Given the description of an element on the screen output the (x, y) to click on. 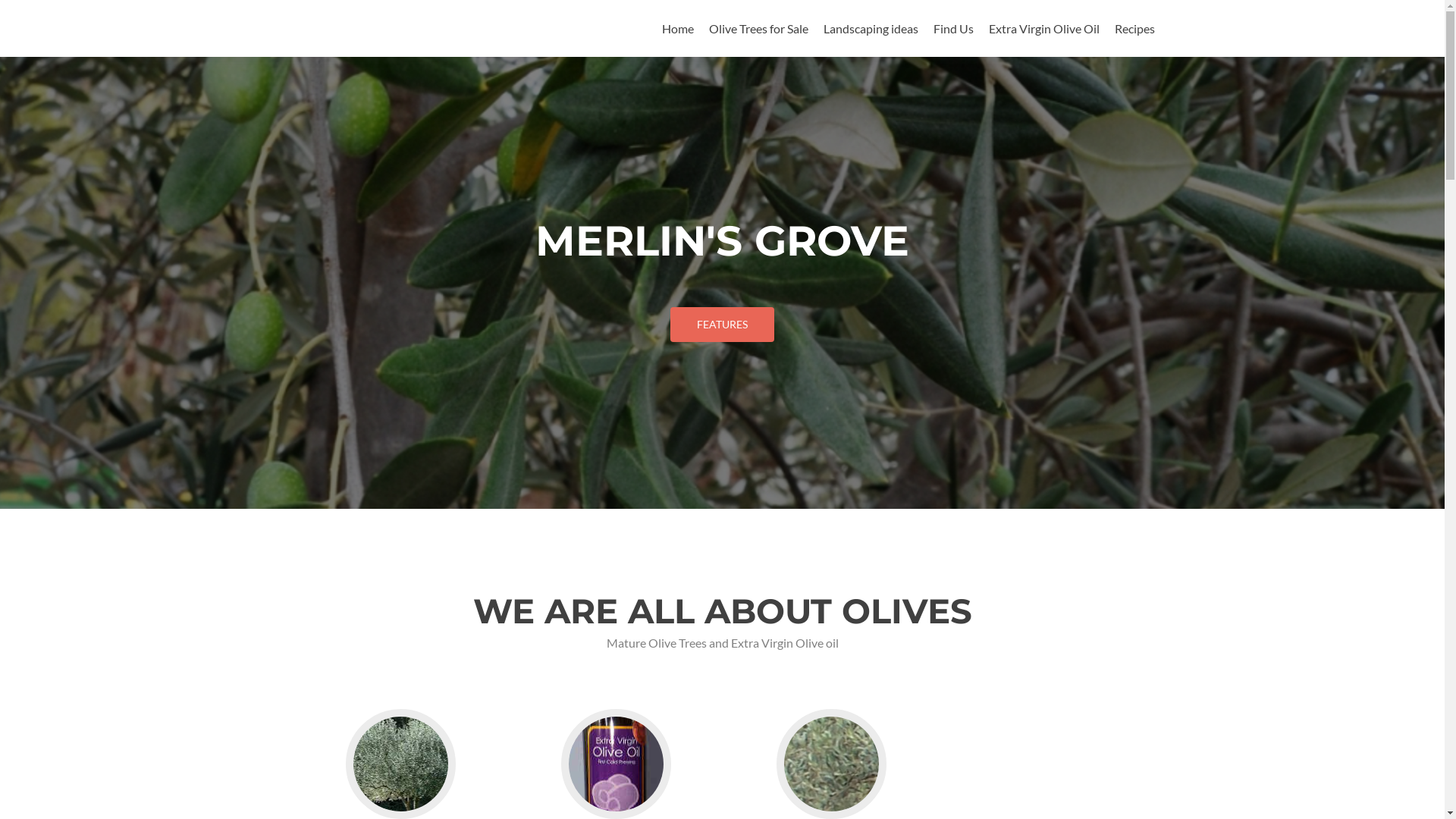
Skip to content Element type: text (700, 9)
Home Element type: text (677, 28)
Landscaping ideas Element type: text (870, 28)
Find Us Element type: text (952, 28)
FEATURES Element type: text (722, 324)
Recipes Element type: text (1134, 28)
Olive Trees for Sale Element type: text (757, 28)
Extra Virgin Olive Oil Element type: text (1043, 28)
